Given the description of an element on the screen output the (x, y) to click on. 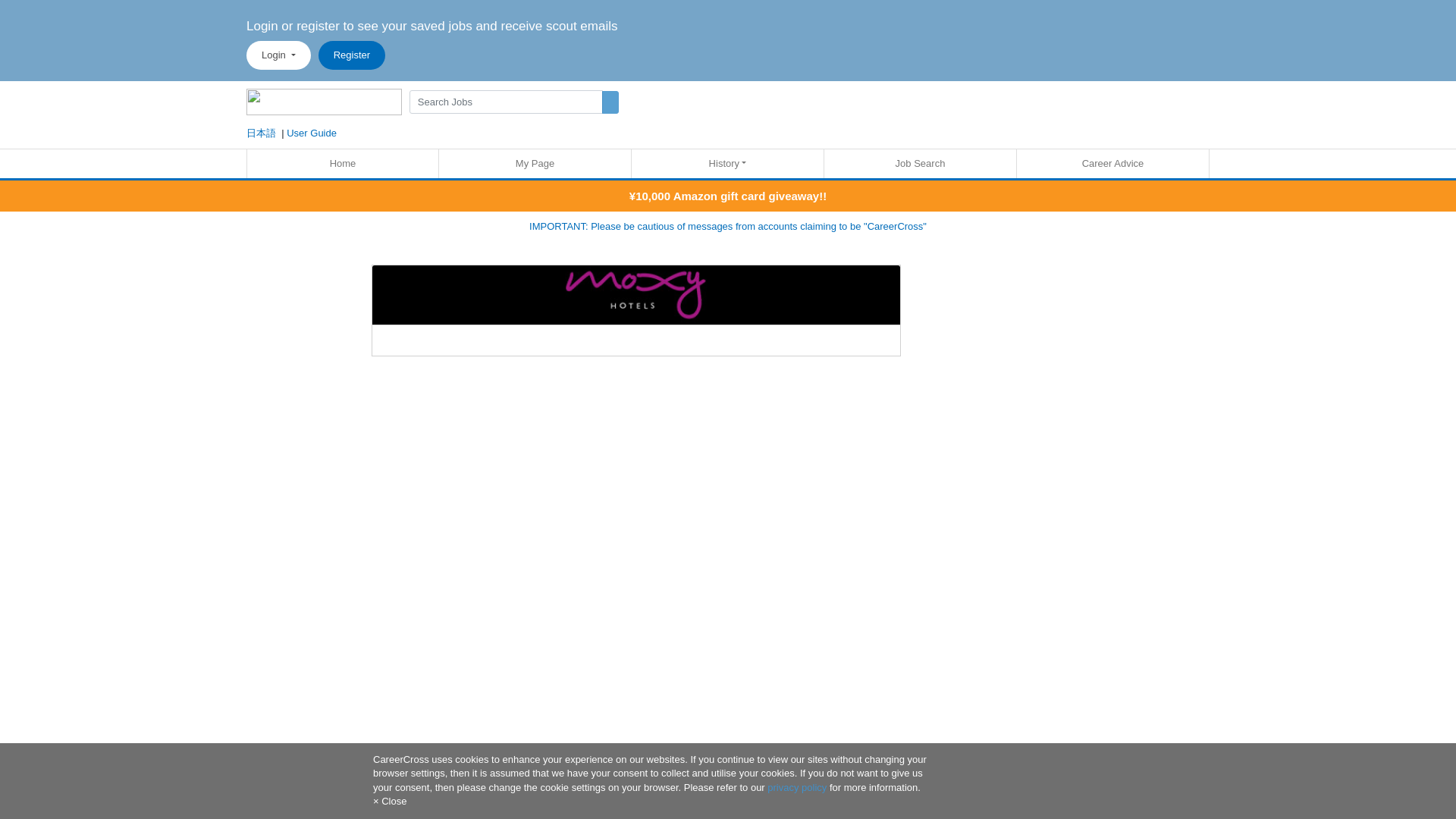
History (727, 163)
Career Advice (1112, 163)
Home (342, 163)
Job Search (920, 163)
User Guide (311, 132)
Register (351, 54)
privacy policy (797, 787)
Login (278, 54)
My Page (534, 163)
